Given the description of an element on the screen output the (x, y) to click on. 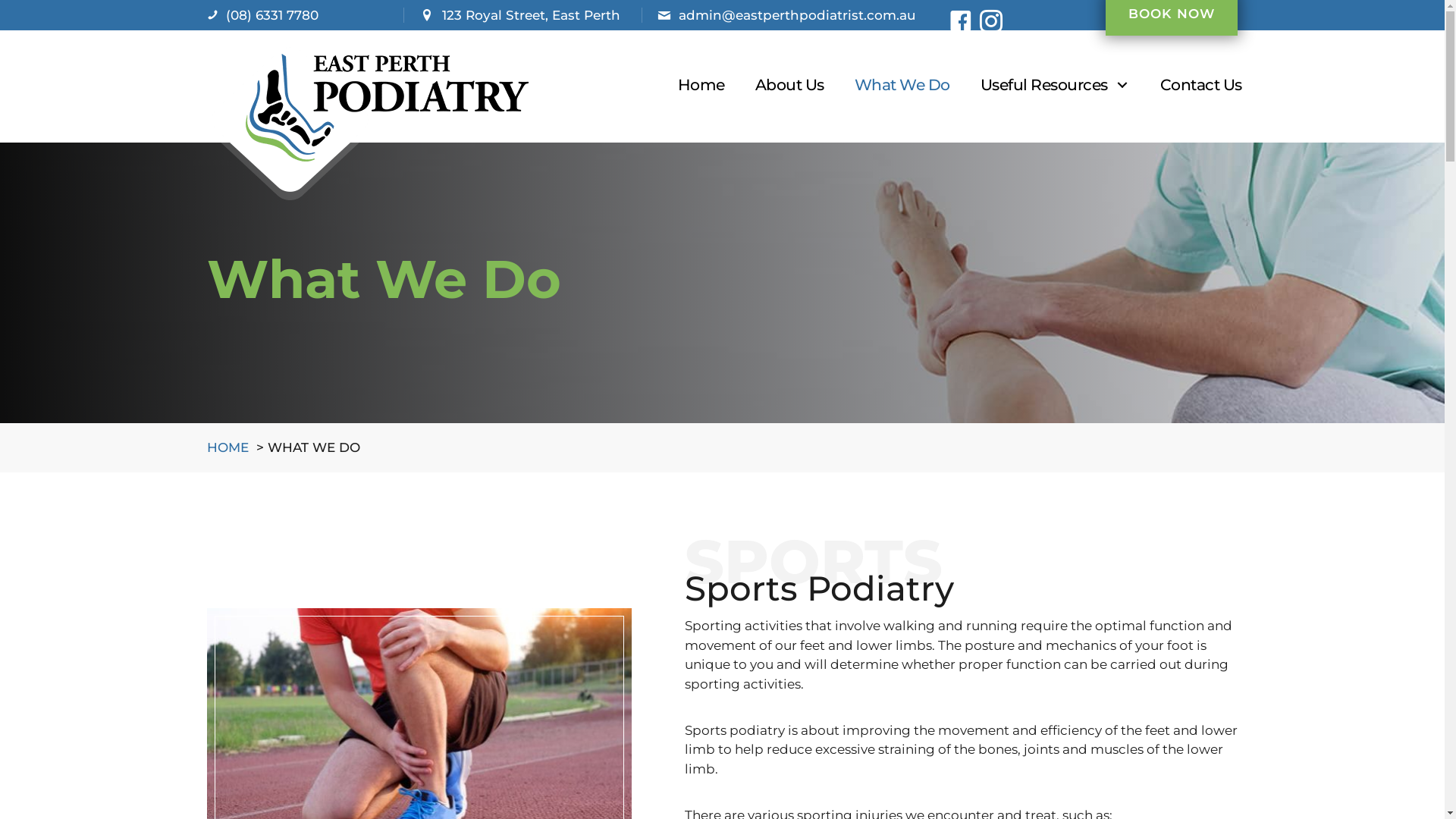
logo-with-point Element type: hover (366, 122)
Home Element type: text (701, 84)
About Us Element type: text (789, 84)
What We Do Element type: text (902, 84)
admin@eastperthpodiatrist.com.au Element type: text (797, 14)
Useful Resources Element type: text (1055, 84)
HOME Element type: text (226, 447)
Contact Us Element type: text (1200, 84)
(08) 6331 7780 Element type: text (271, 14)
